Given the description of an element on the screen output the (x, y) to click on. 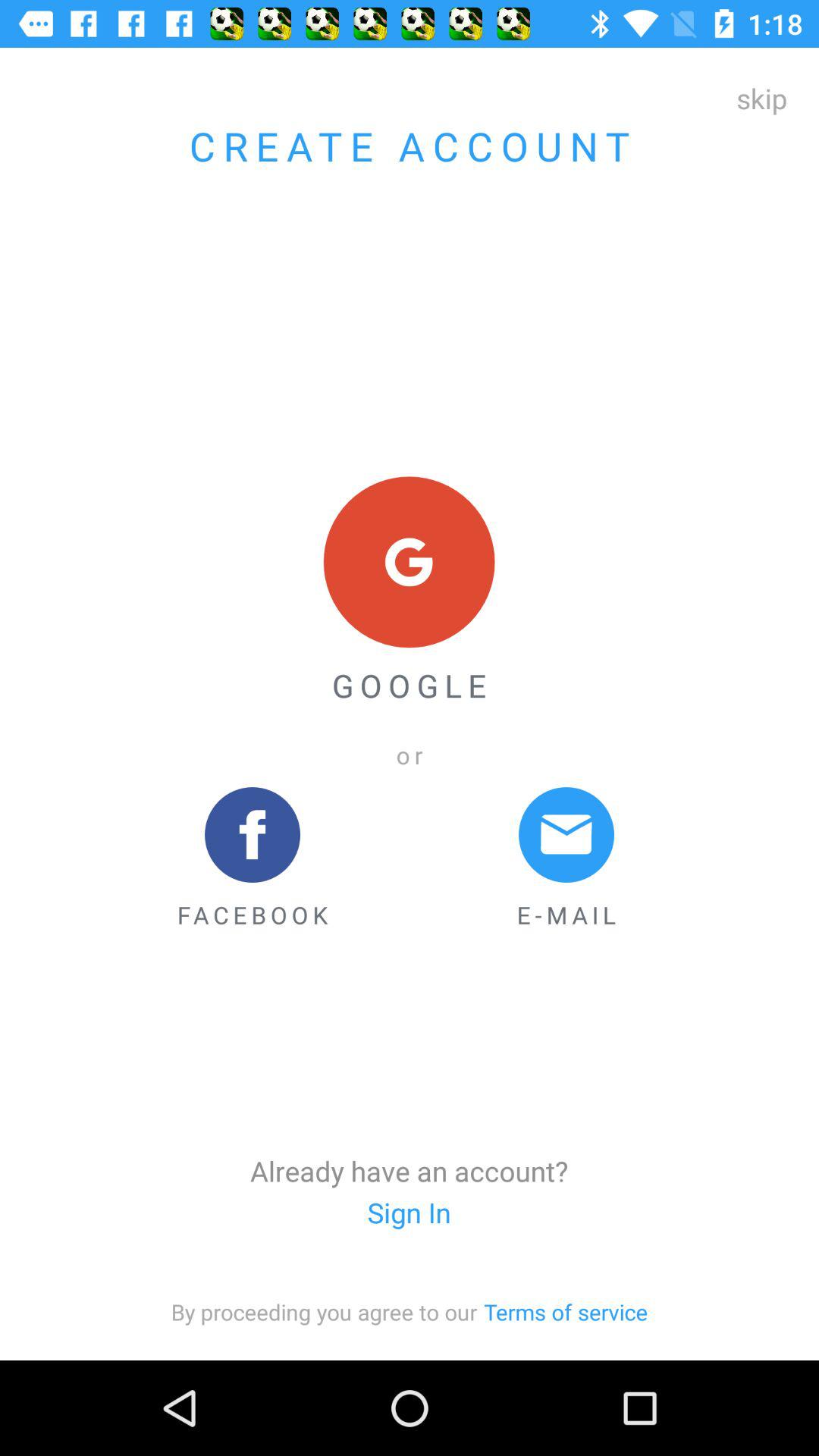
launch icon to the right of the   item (565, 1311)
